Given the description of an element on the screen output the (x, y) to click on. 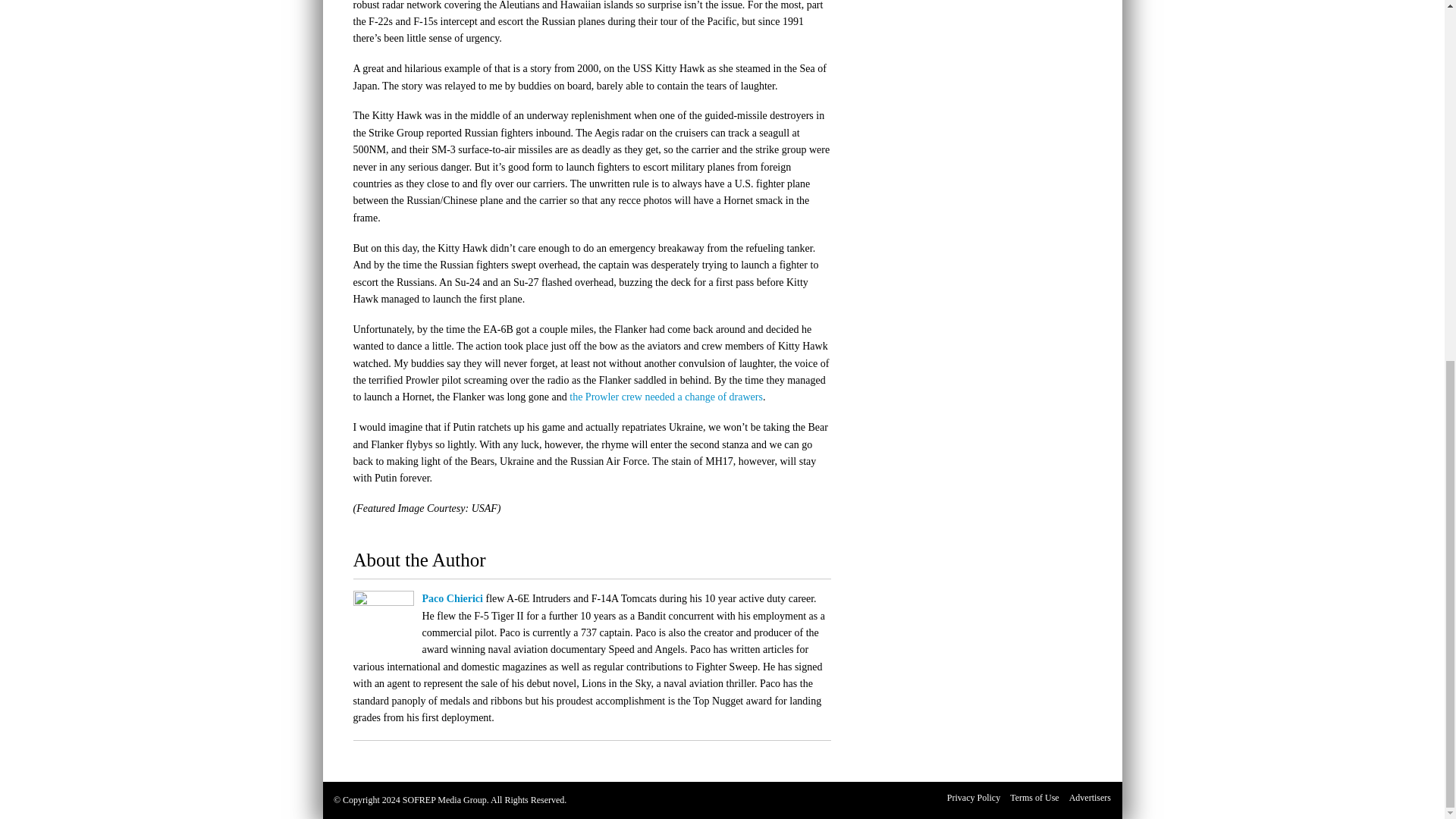
SOFREP Media Group (444, 799)
Privacy Policy (973, 797)
Posts by Paco Chierici (451, 598)
the Prowler crew needed a change of drawers (665, 396)
Russians fly over Kitty Hawk (665, 396)
Paco Chierici (451, 598)
Advertisers (1089, 797)
Terms of Use (1034, 797)
